Given the description of an element on the screen output the (x, y) to click on. 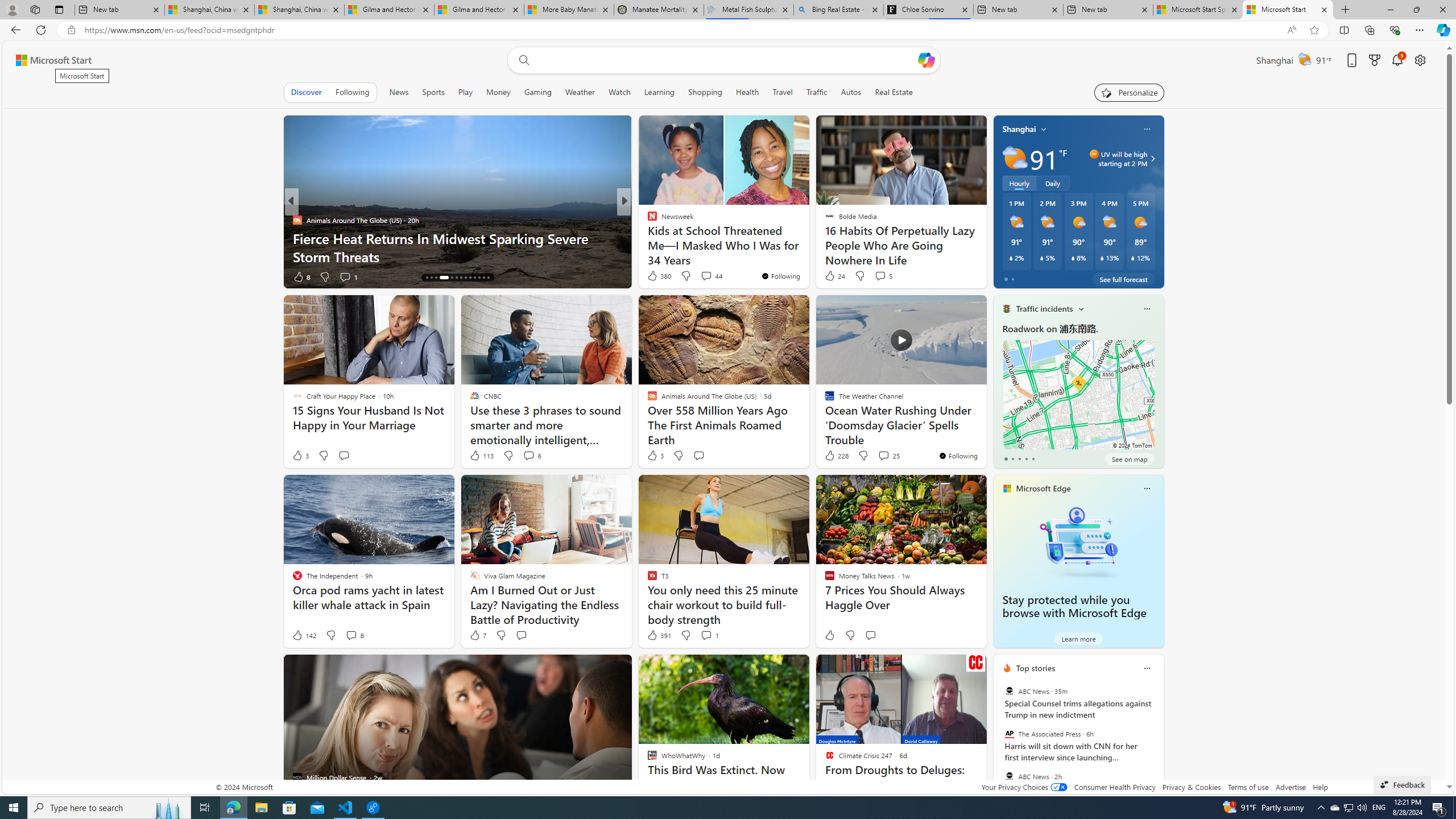
UV will be high starting at 2 PM (1150, 158)
Terms of use (1247, 786)
Your Privacy Choices (1024, 786)
loveMONEY (647, 219)
Enter your search term (726, 59)
Newsweek (647, 238)
RB ITALIA Blog (647, 219)
